Given the description of an element on the screen output the (x, y) to click on. 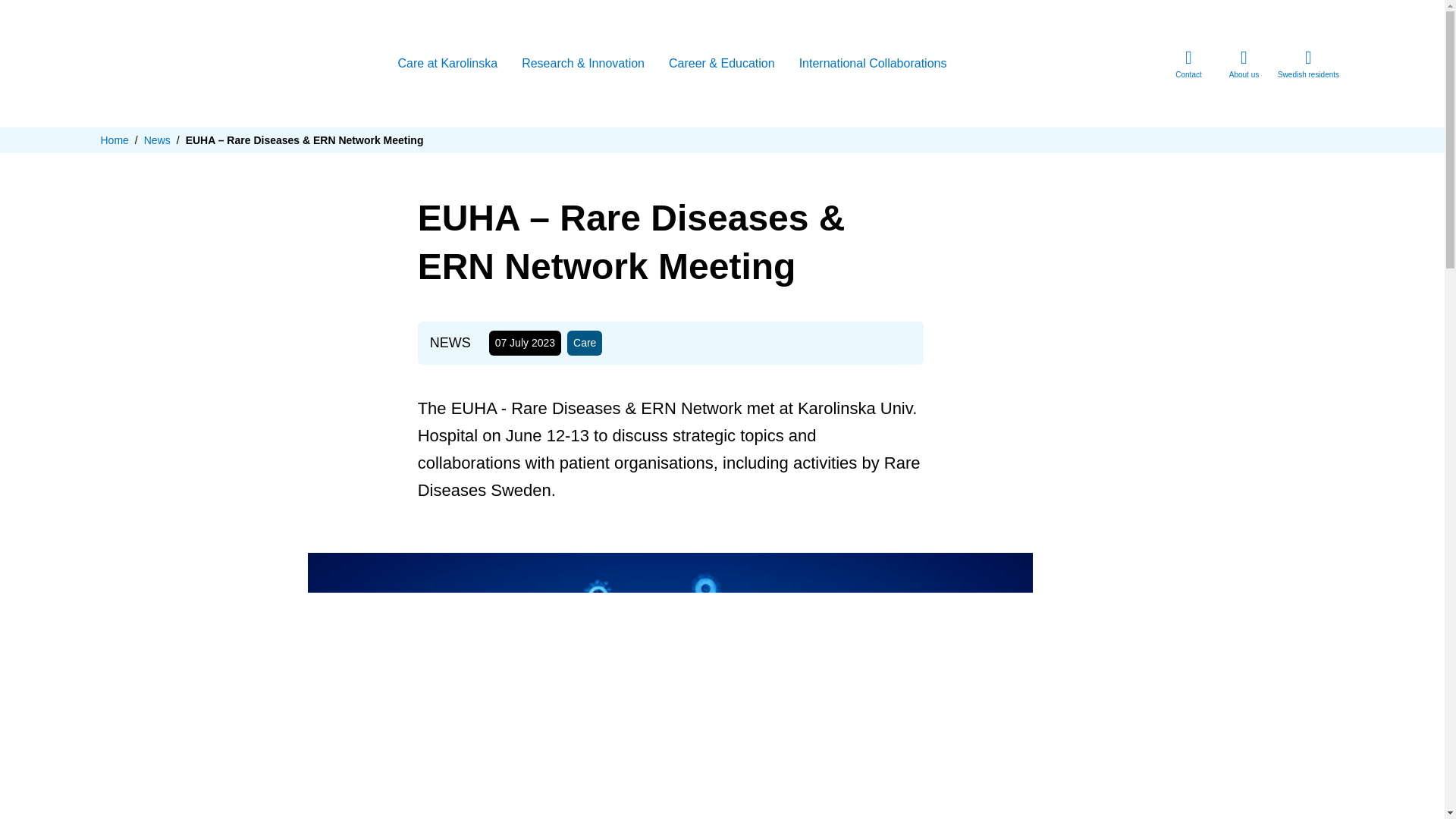
About us (1243, 63)
Contact (1187, 63)
Swedish residents (1307, 63)
Care at Karolinska (447, 64)
International Collaborations (873, 64)
